Given the description of an element on the screen output the (x, y) to click on. 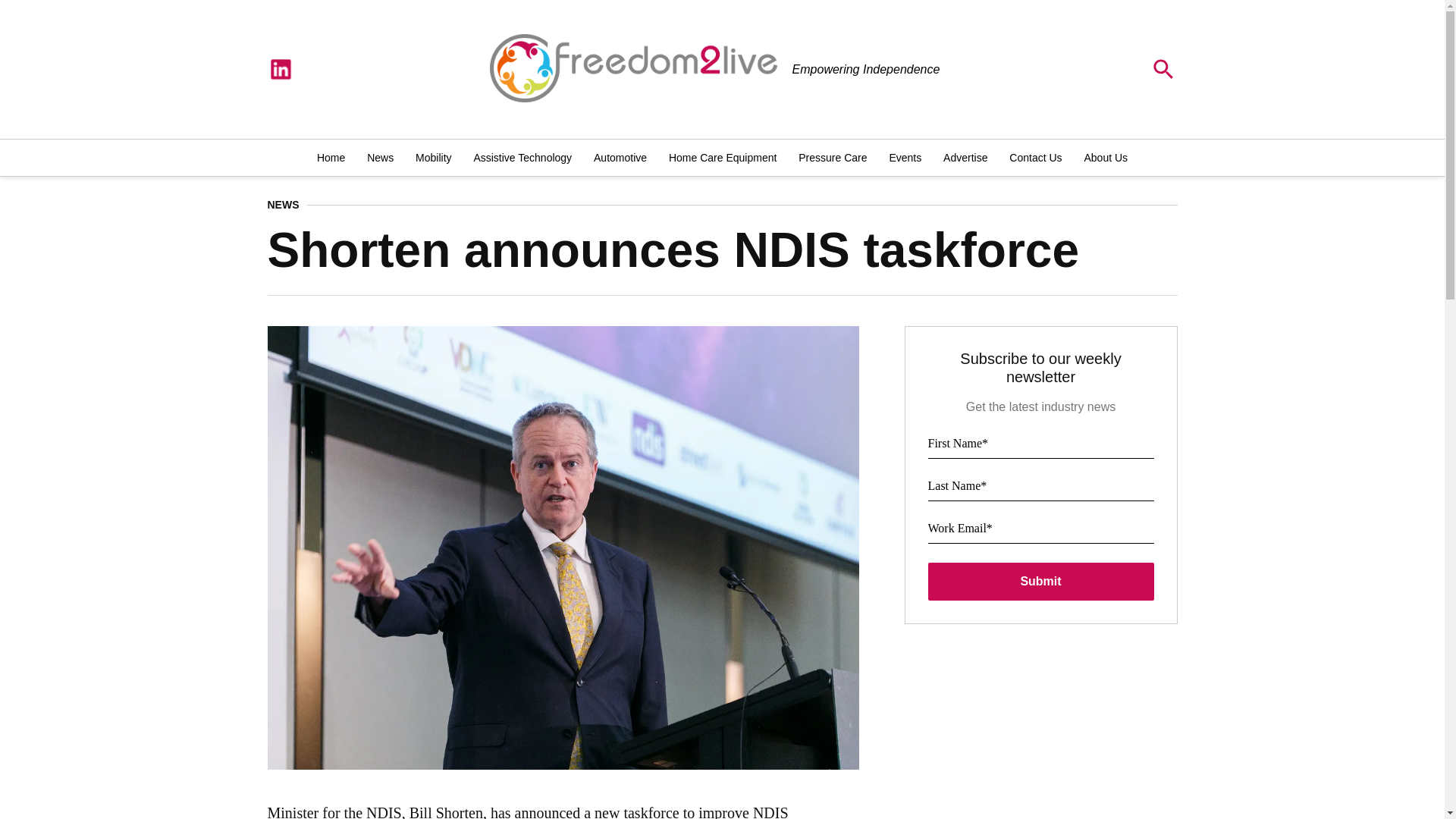
Assistive Technology (522, 157)
Mobility (432, 157)
Advertise (965, 157)
Events (904, 157)
Contact Us (1034, 157)
Submit (1041, 581)
Home Care Equipment (722, 157)
Submit (1041, 581)
Automotive (619, 157)
